Given the description of an element on the screen output the (x, y) to click on. 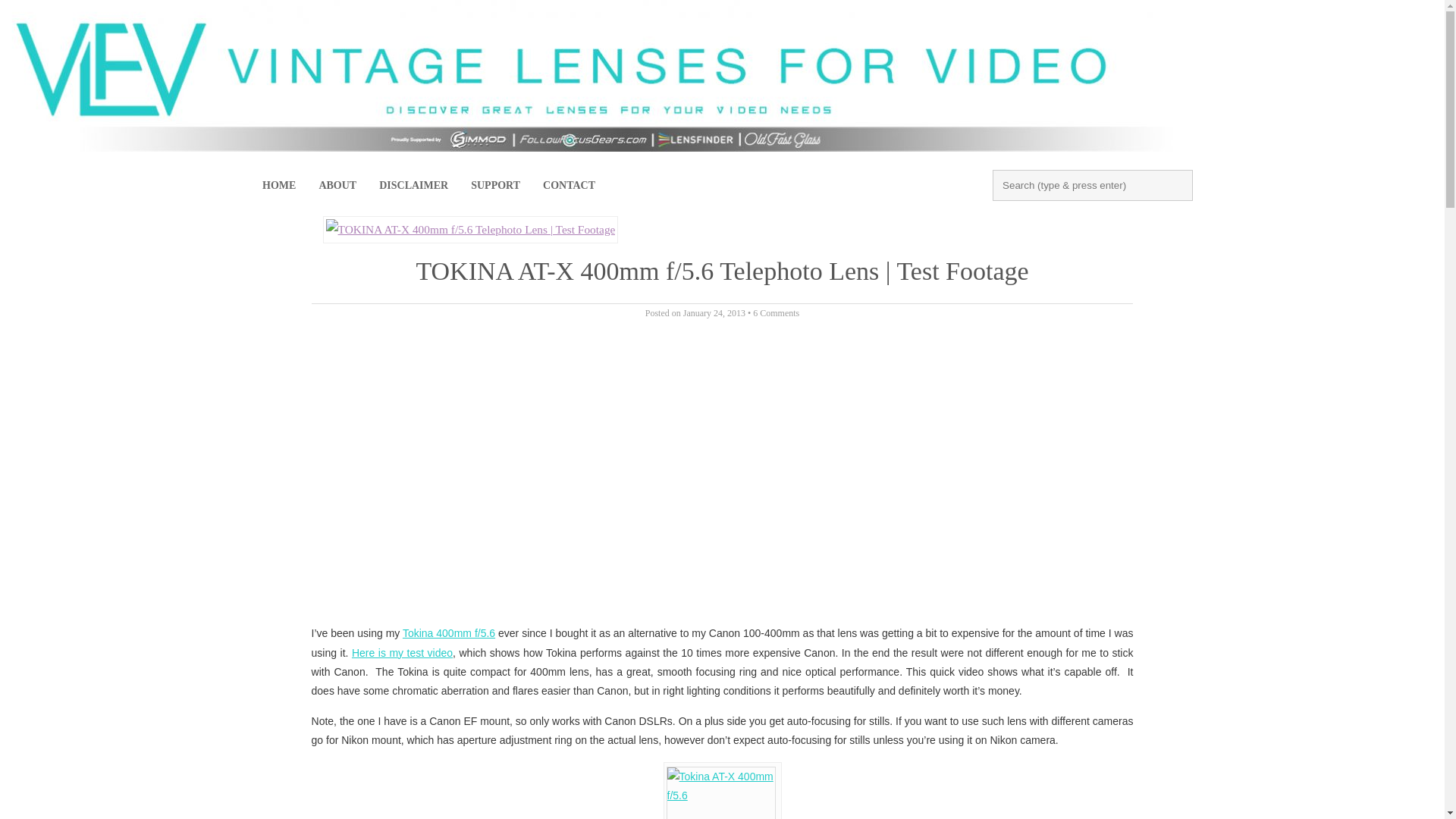
6 Comments (775, 312)
ABOUT (337, 185)
SUPPORT (495, 185)
CONTACT (569, 185)
Here is my test video (402, 653)
DISCLAIMER (414, 185)
400mm Test Comparison (402, 653)
HOME (278, 185)
Search (34, 20)
